Given the description of an element on the screen output the (x, y) to click on. 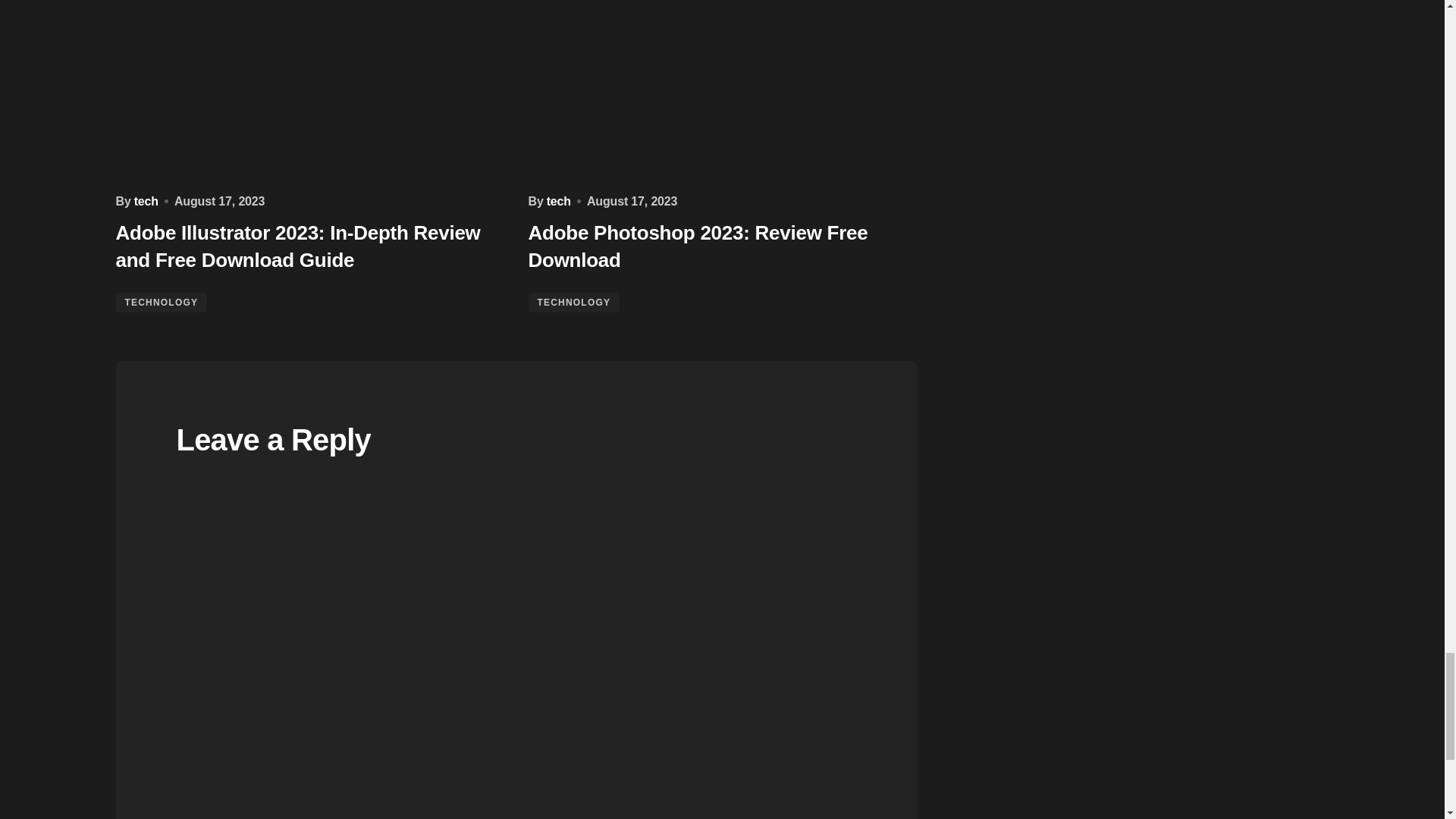
Adobe Photoshop 2023: Review Free Download (721, 90)
